Given the description of an element on the screen output the (x, y) to click on. 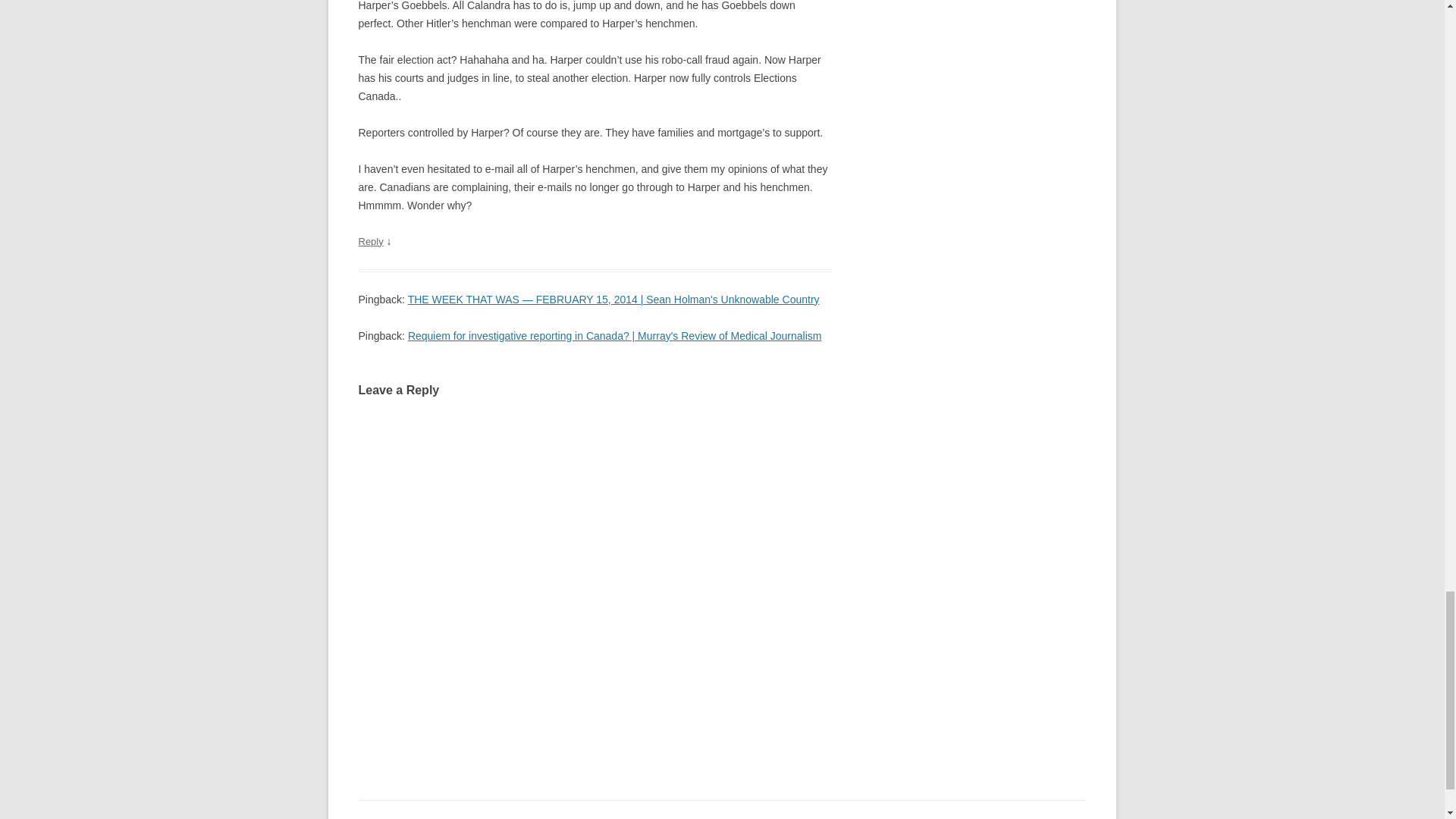
Reply (370, 241)
